Given the description of an element on the screen output the (x, y) to click on. 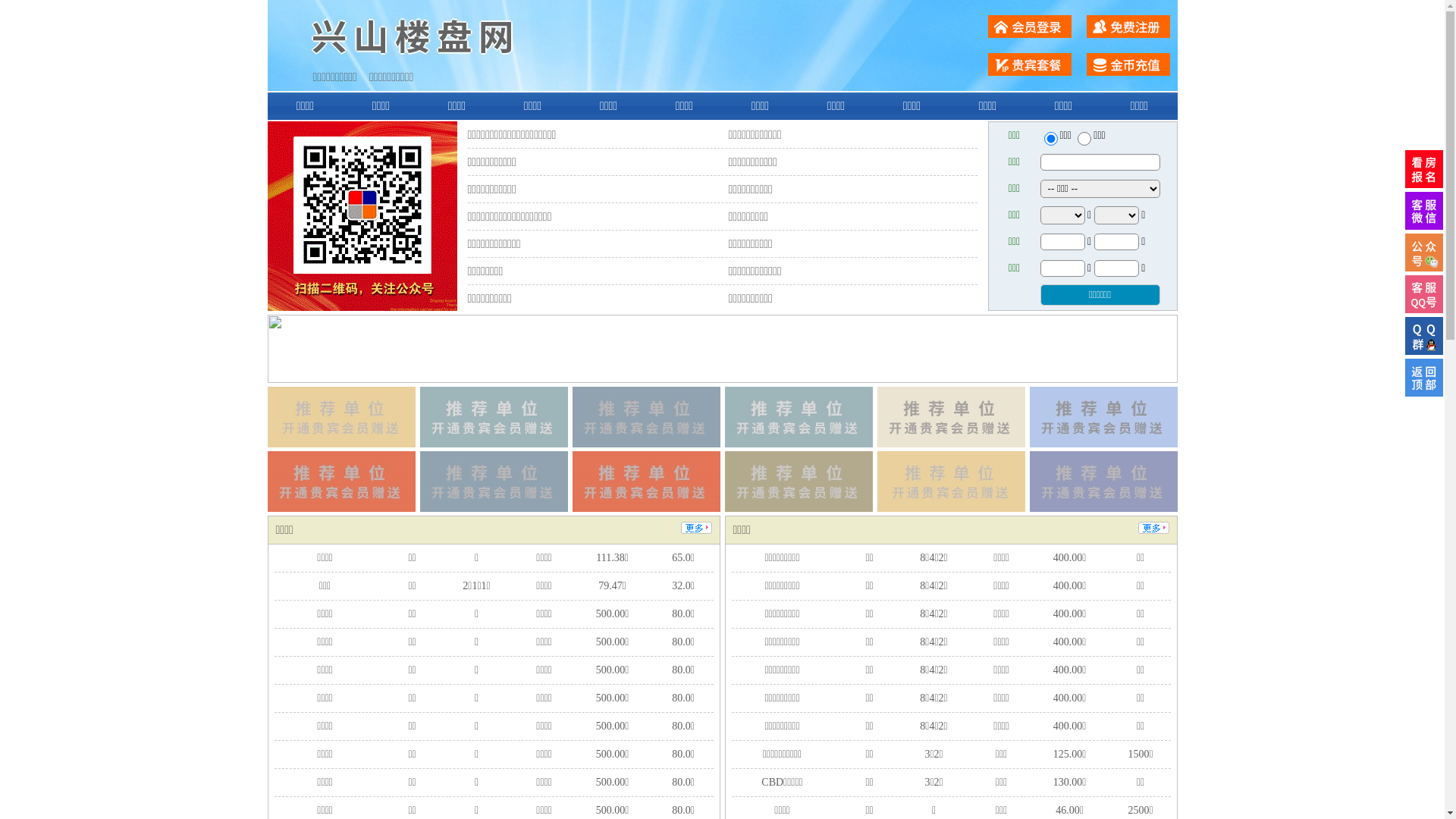
chuzu Element type: text (1084, 138)
ershou Element type: text (1050, 138)
